Given the description of an element on the screen output the (x, y) to click on. 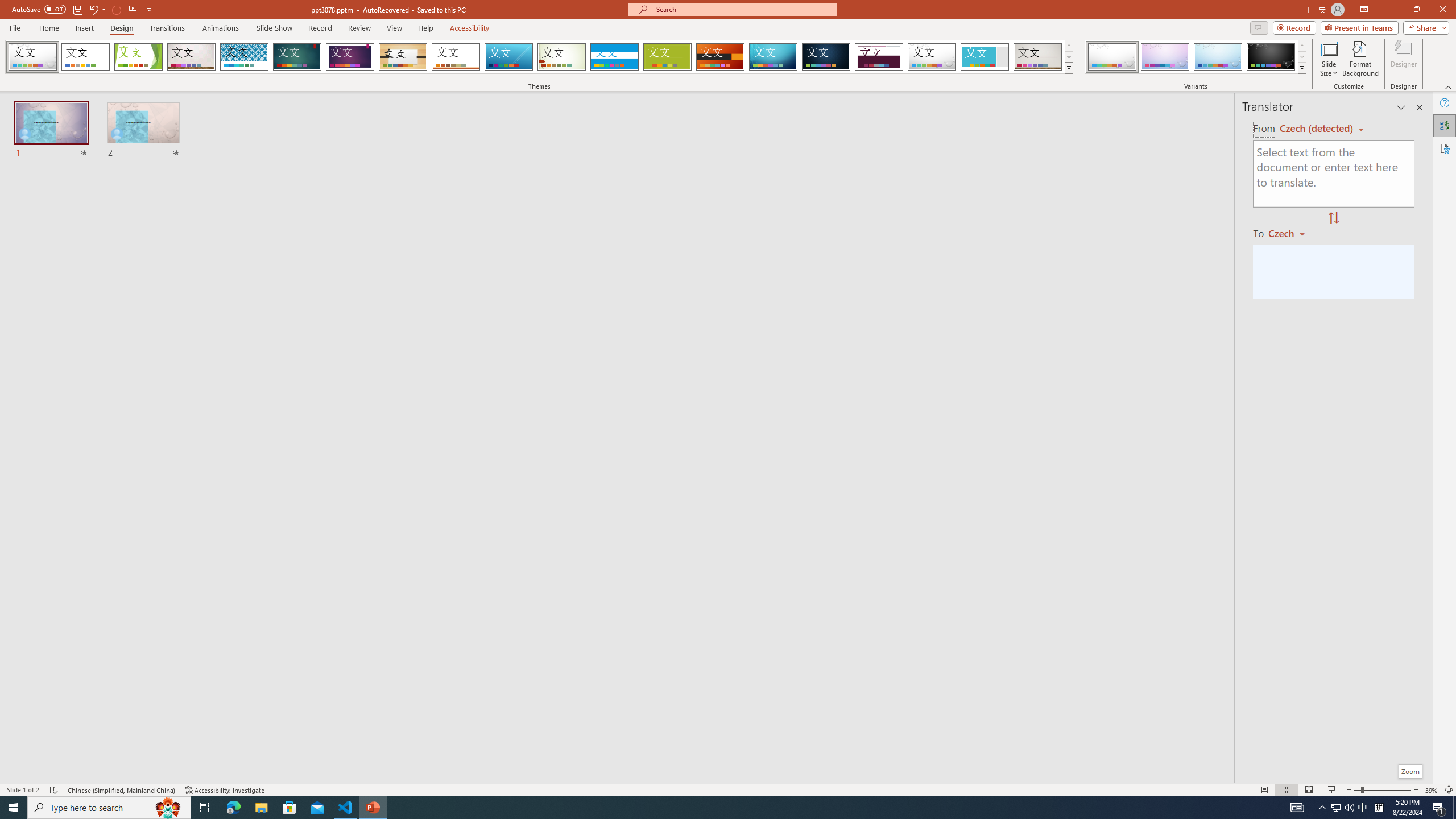
Droplet Variant 3 (1217, 56)
Basis (667, 56)
